Given the description of an element on the screen output the (x, y) to click on. 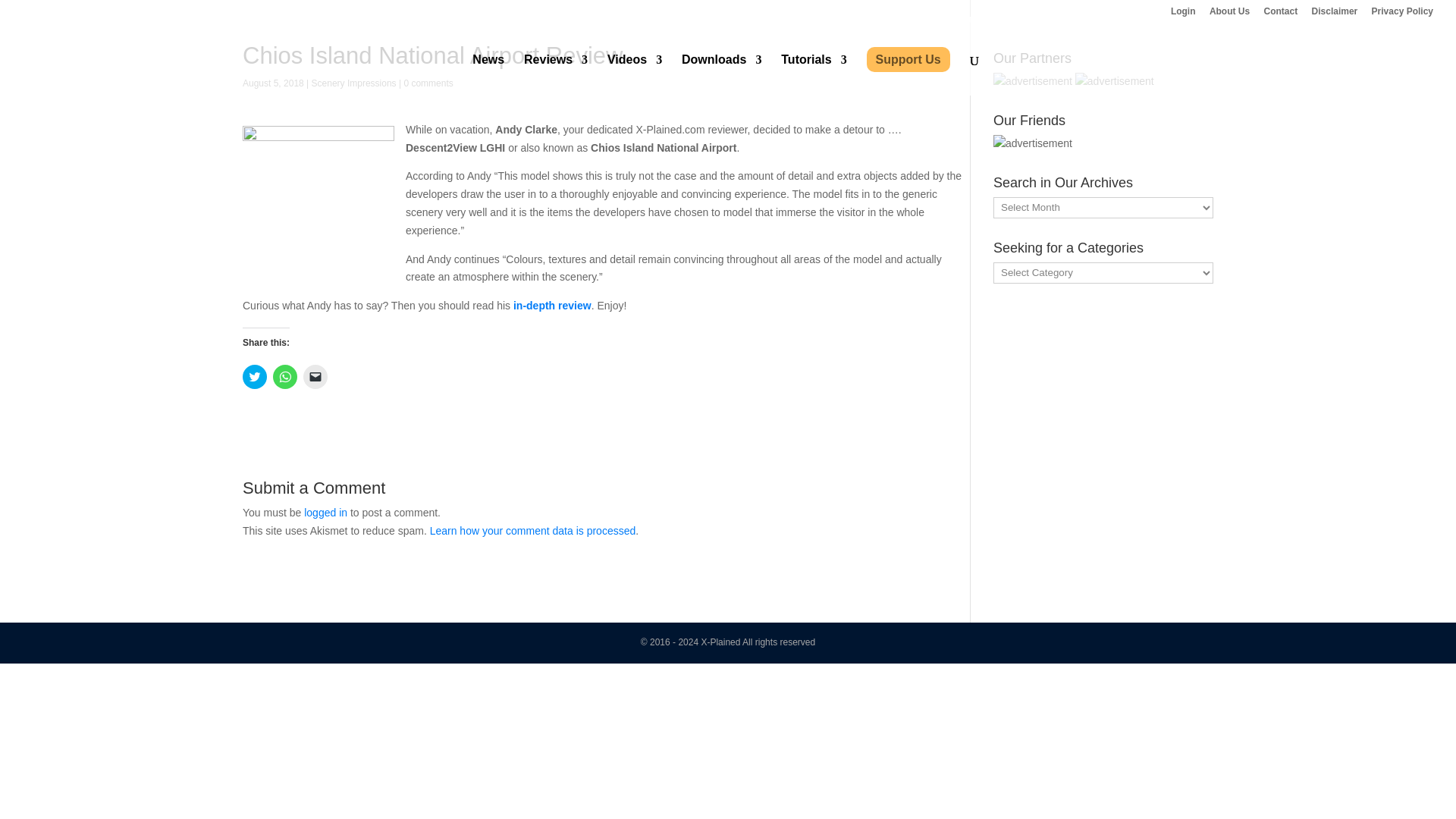
Privacy Policy (1401, 14)
Login (1182, 14)
Disclaimer (1334, 14)
Videos (634, 74)
advertisement (1031, 81)
Contact (1280, 14)
Click to email a link to a friend (314, 376)
Click to share on WhatsApp (285, 376)
PC Simulation, Simulators, Hardware and Games (1114, 81)
Simheaven ... Finest Stuff for Your Simulation (1031, 144)
